Given the description of an element on the screen output the (x, y) to click on. 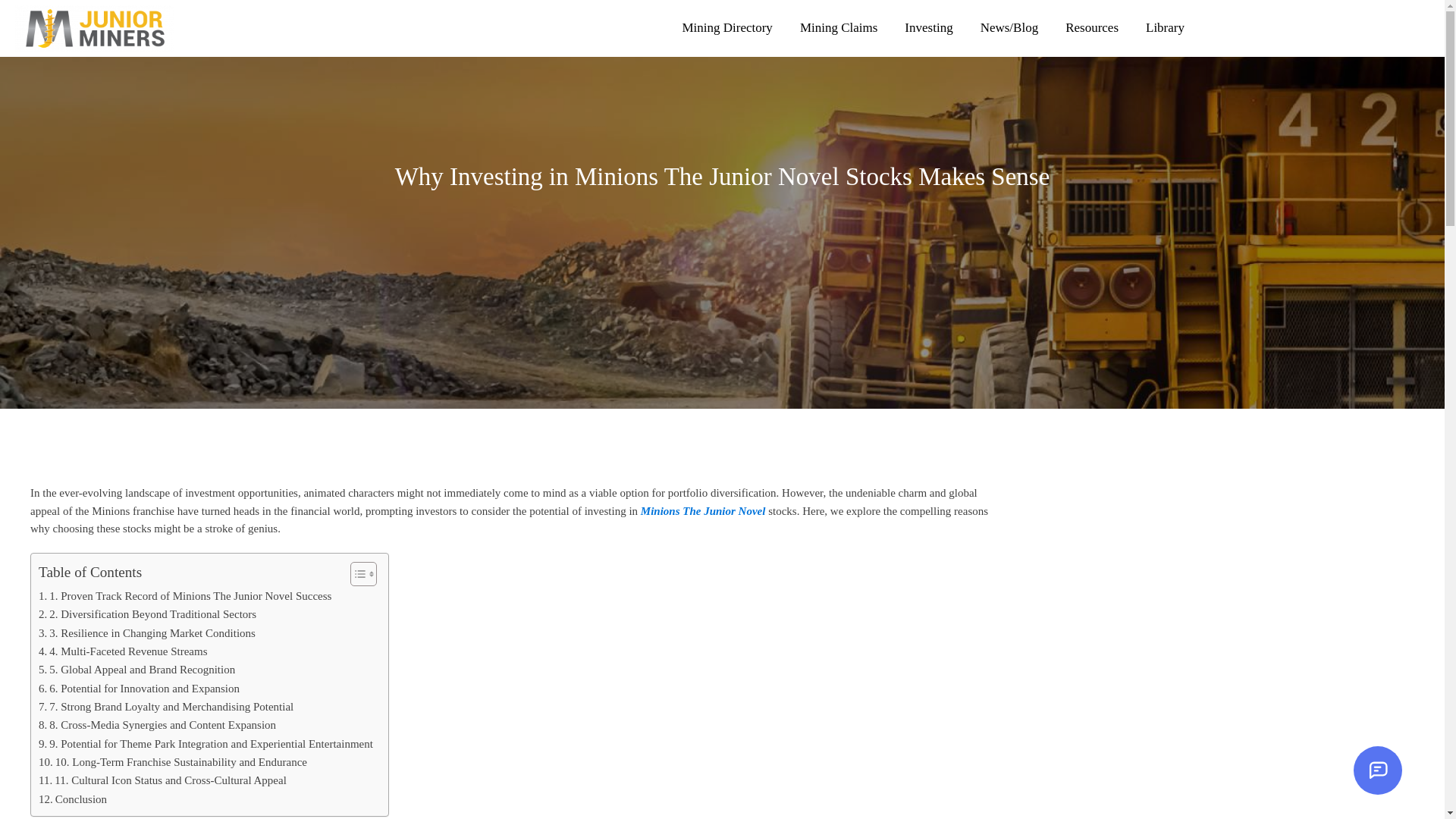
6. Potential for Innovation and Expansion (139, 688)
8. Cross-Media Synergies and Content Expansion (157, 724)
Investing (928, 28)
3. Resilience in Changing Market Conditions (147, 633)
Conclusion (72, 799)
7. Strong Brand Loyalty and Merchandising Potential (166, 706)
Mining Directory (727, 28)
11. Cultural Icon Status and Cross-Cultural Appeal (162, 780)
1. Proven Track Record of Minions The Junior Novel Success  (185, 596)
5. Global Appeal and Brand Recognition (136, 669)
2. Diversification Beyond Traditional Sectors (147, 614)
10. Long-Term Franchise Sustainability and Endurance (173, 762)
Mining Claims (838, 28)
4. Multi-Faceted Revenue Streams (123, 651)
